Given the description of an element on the screen output the (x, y) to click on. 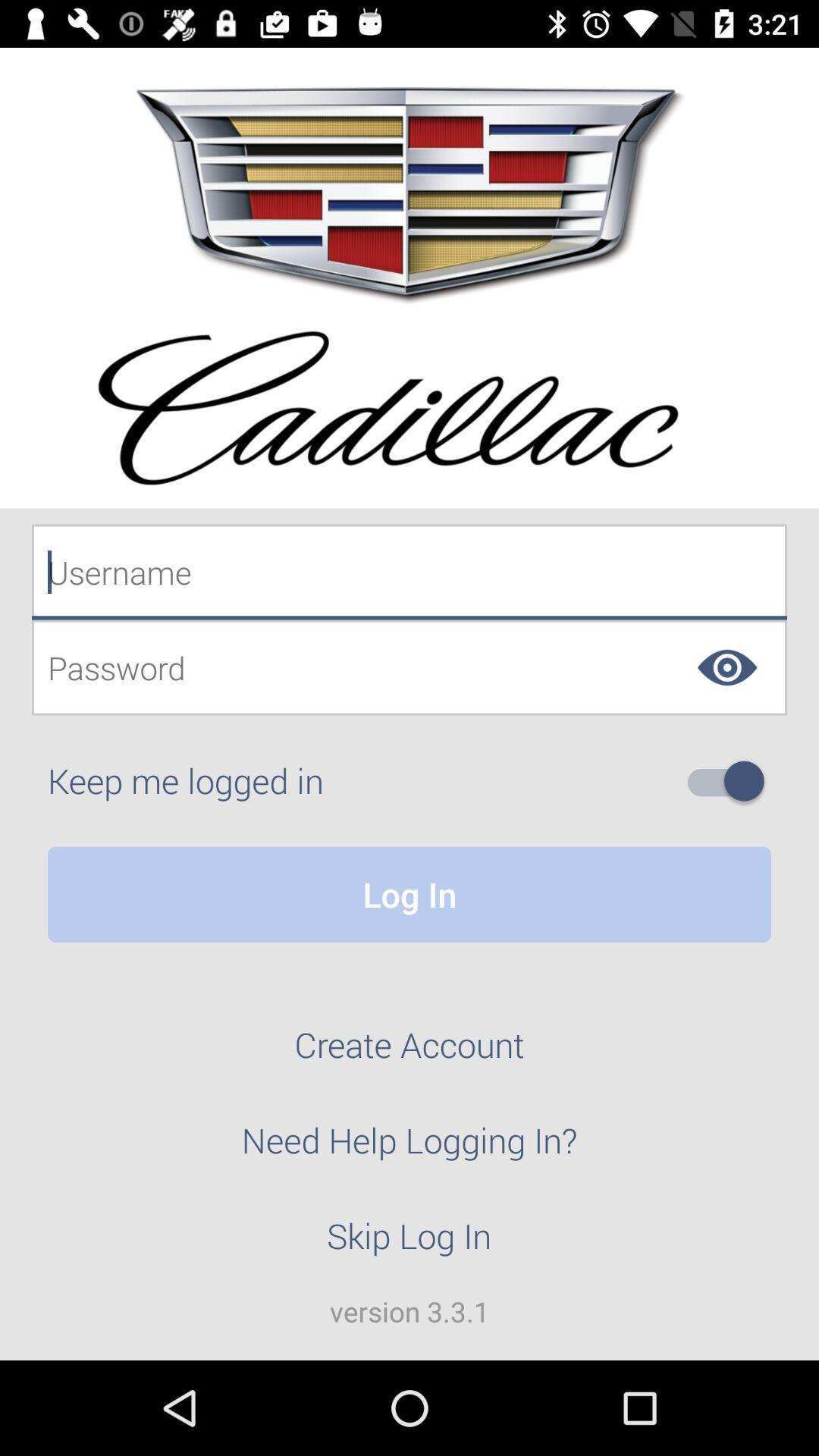
turn on icon on the right (731, 781)
